Given the description of an element on the screen output the (x, y) to click on. 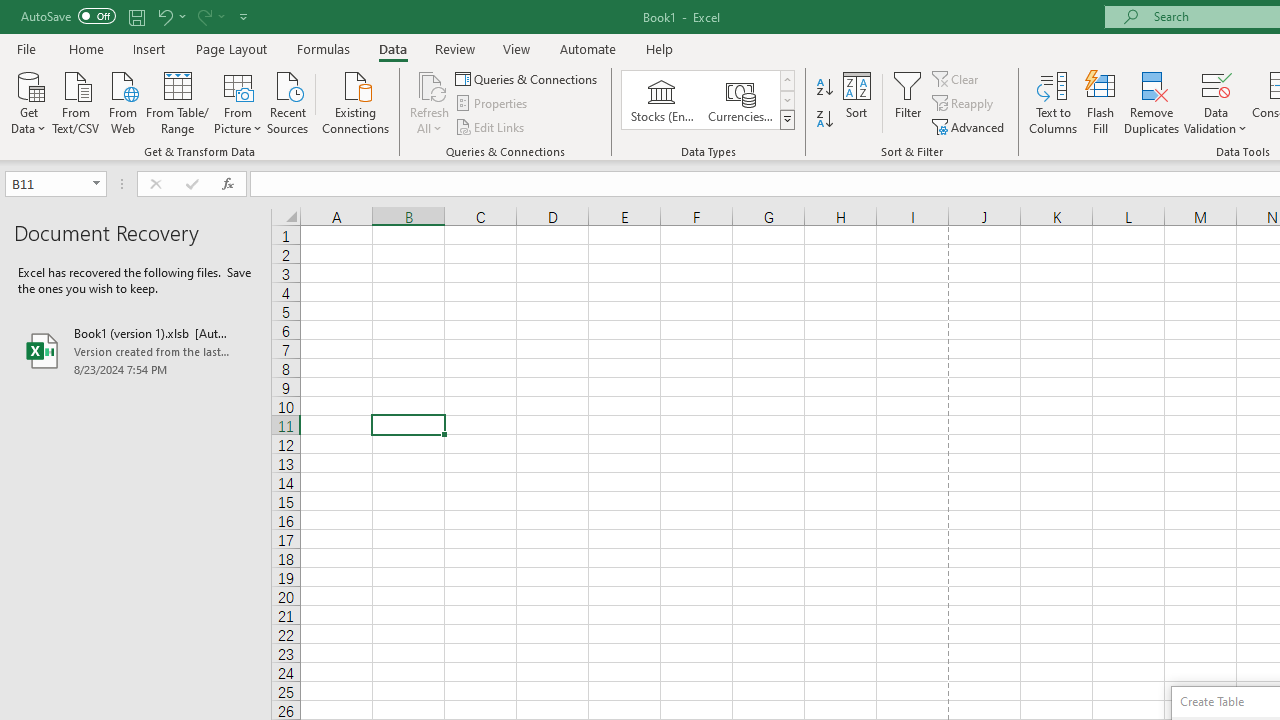
Edit Links (491, 126)
Reapply (964, 103)
Remove Duplicates (1151, 102)
Sort... (856, 102)
Recent Sources (287, 101)
Existing Connections (355, 101)
Filter (908, 102)
